Given the description of an element on the screen output the (x, y) to click on. 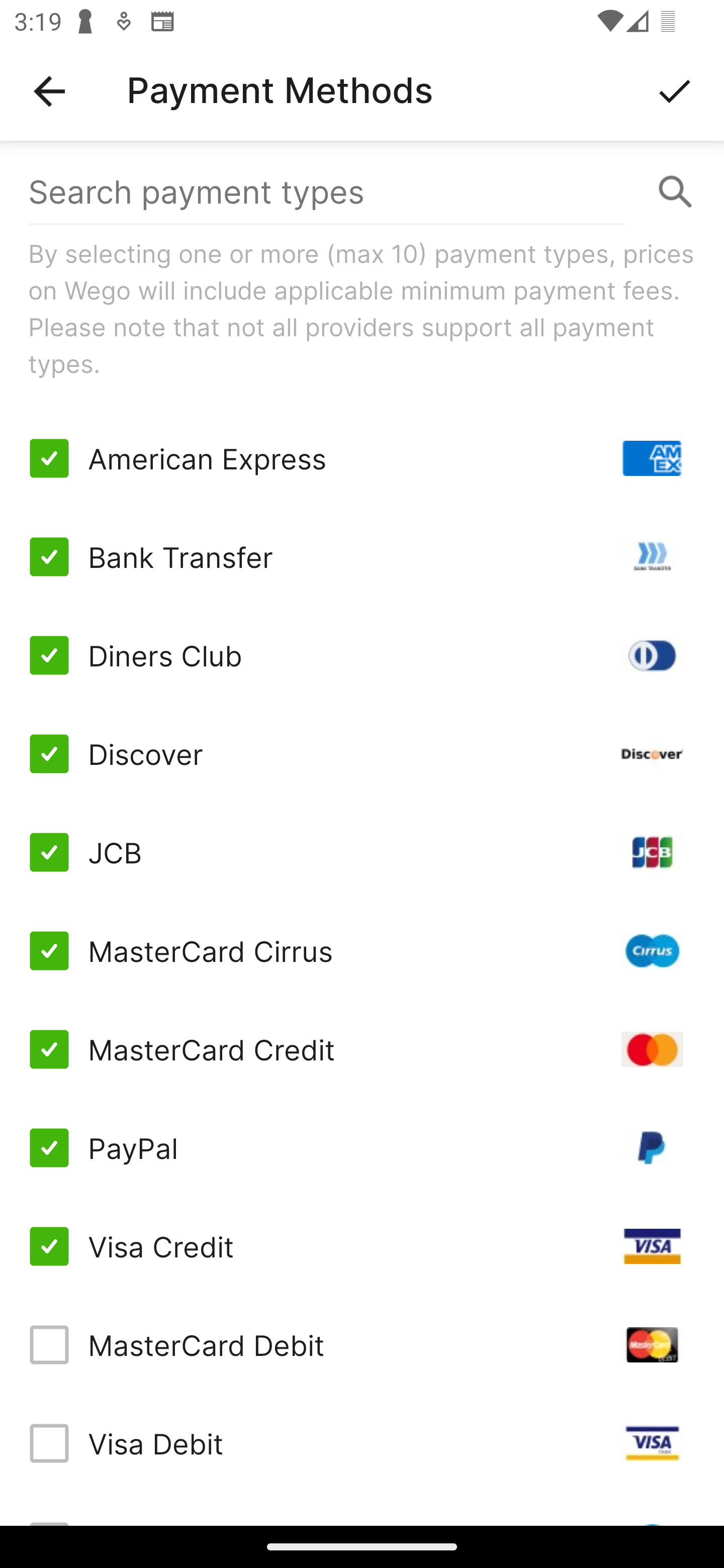
Search payment types  (361, 191)
American Express (362, 458)
Bank Transfer (362, 557)
Diners Club (362, 655)
Discover (362, 753)
JCB (362, 851)
MasterCard Cirrus (362, 950)
MasterCard Credit (362, 1049)
PayPal (362, 1147)
Visa Credit (362, 1245)
MasterCard Debit (362, 1344)
Visa Debit (362, 1442)
